Given the description of an element on the screen output the (x, y) to click on. 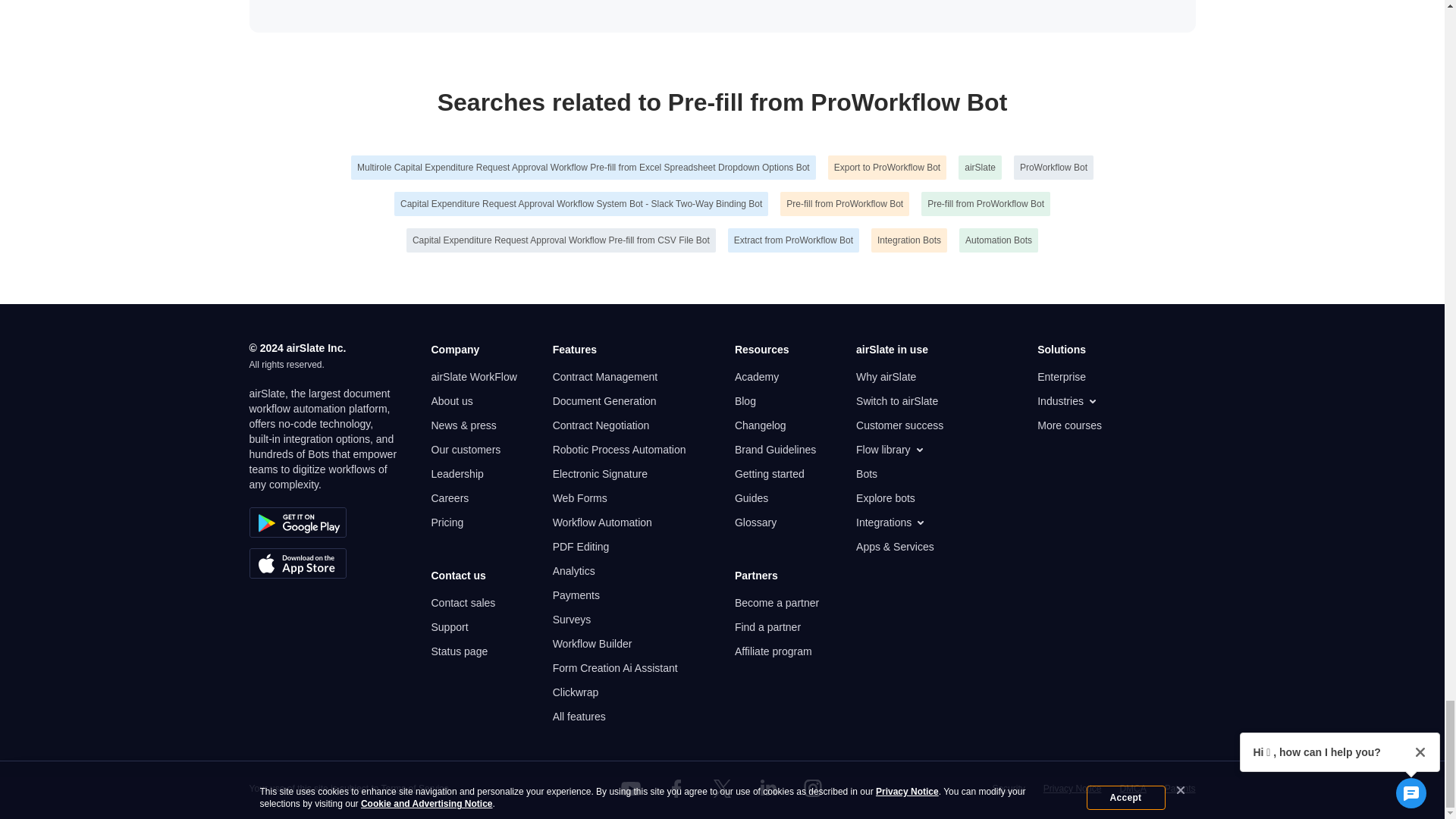
YouTube (630, 788)
Twitter (721, 788)
Facebook (676, 788)
LinkedIn (767, 788)
Instagram (812, 788)
